Given the description of an element on the screen output the (x, y) to click on. 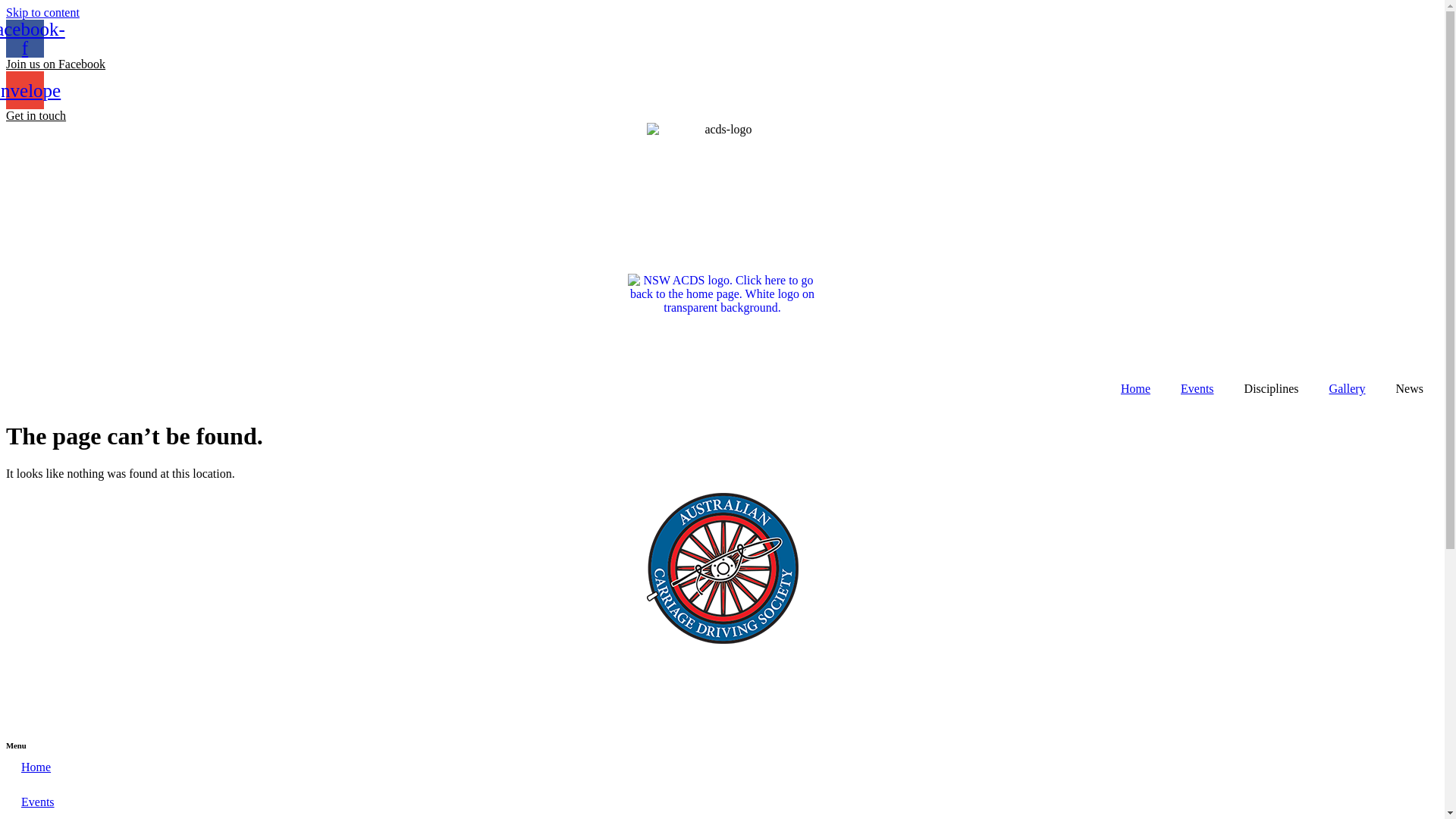
Gallery Element type: text (1347, 388)
Join us on Facebook Element type: text (55, 63)
Disciplines Element type: text (1271, 388)
Events Element type: text (1197, 388)
Get in touch Element type: text (35, 115)
Facebook-f Element type: text (24, 38)
Home Element type: text (722, 766)
News Element type: text (1409, 388)
Envelope Element type: text (24, 90)
Home Element type: text (1135, 388)
Skip to content Element type: text (42, 12)
